Given the description of an element on the screen output the (x, y) to click on. 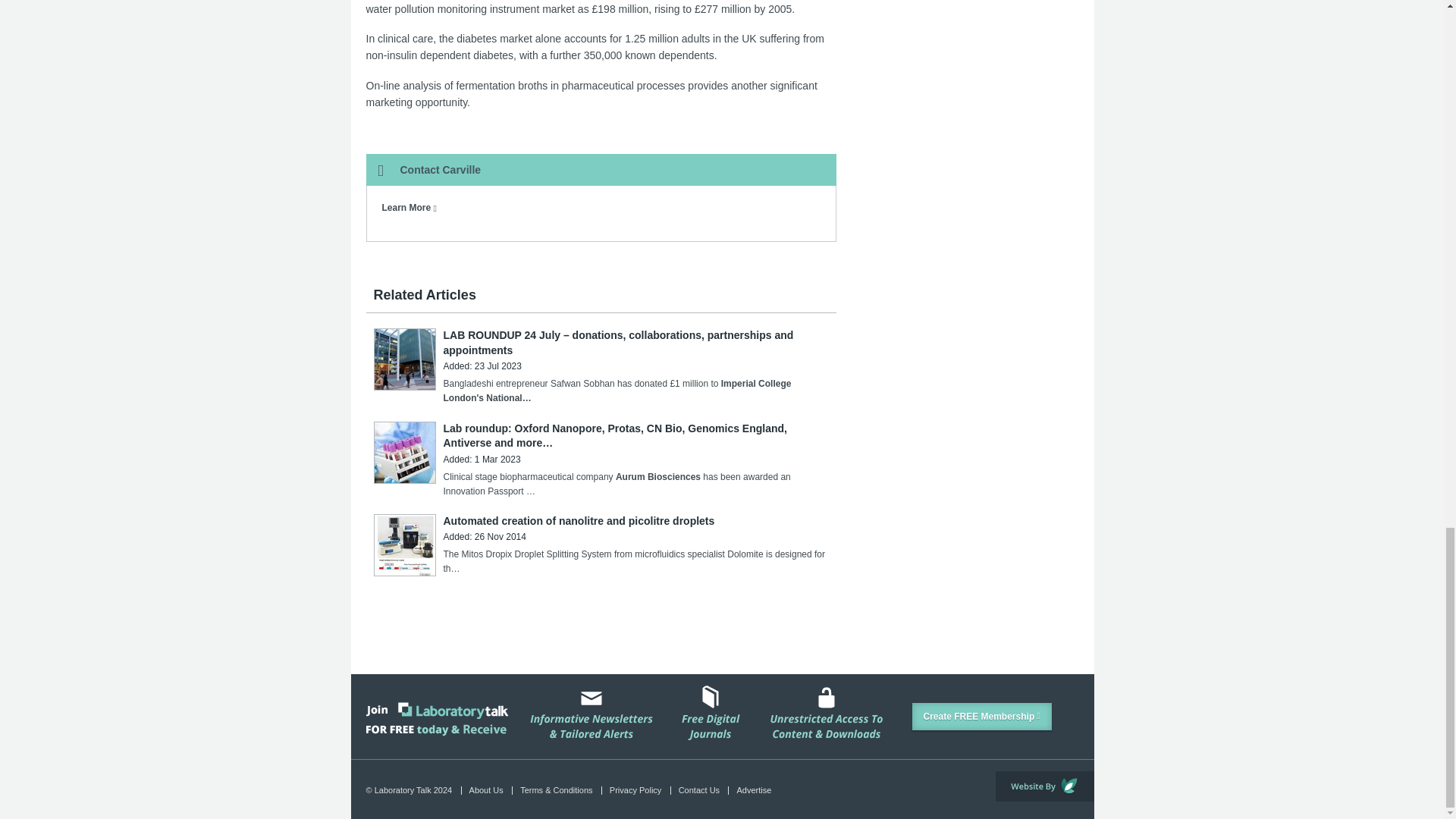
Create FREE Membership (981, 716)
Automated creation of nanolitre and picolitre droplets (578, 521)
Learn More (408, 207)
